Given the description of an element on the screen output the (x, y) to click on. 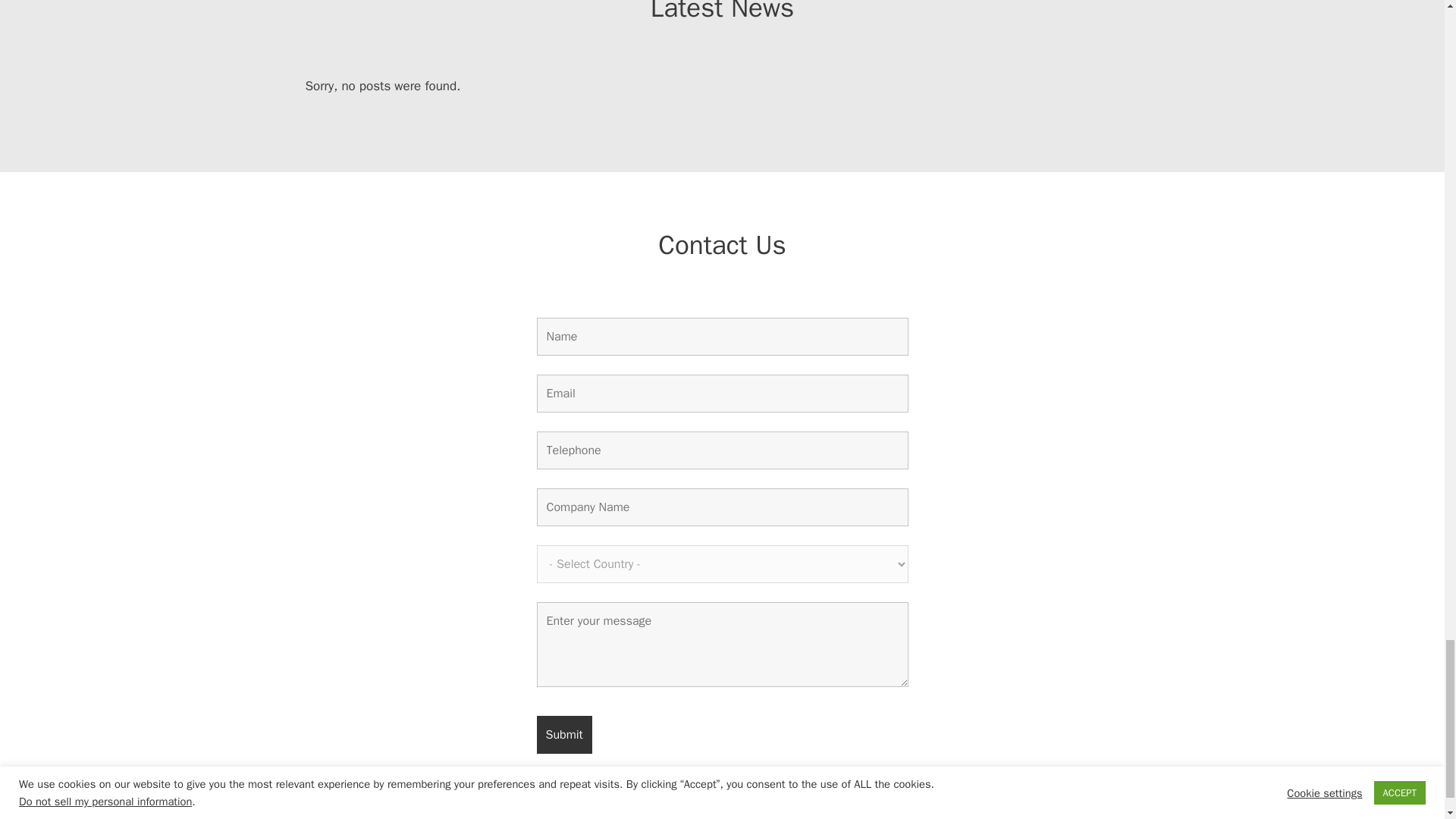
Submit (564, 734)
